Given the description of an element on the screen output the (x, y) to click on. 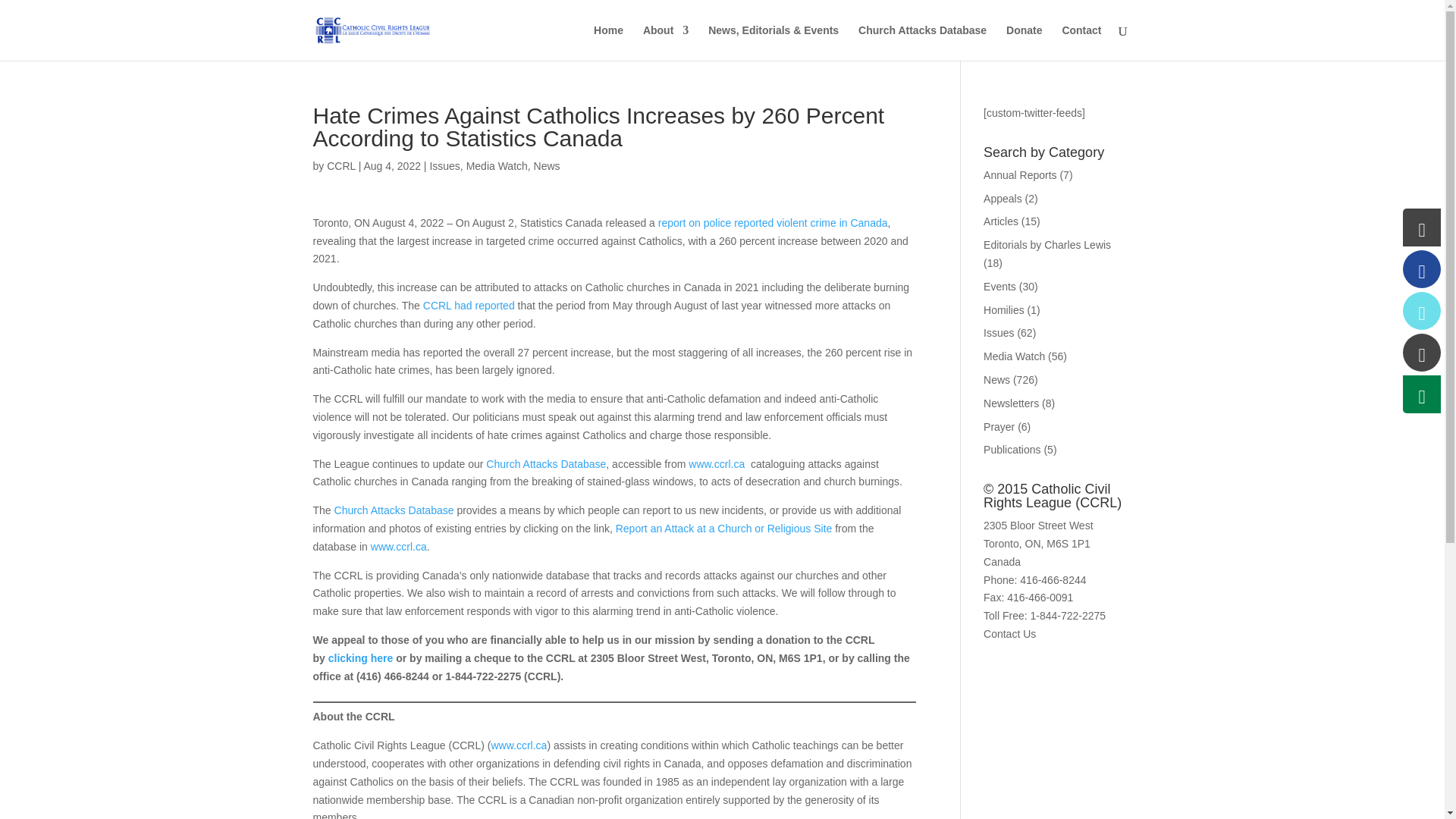
CCRL had reported (469, 305)
Contact Us (1009, 633)
Newsletters (1011, 403)
Church Attacks Database (923, 42)
Appeals (1003, 198)
Issues (998, 332)
Report an Attack at a Church or Religious Site (723, 528)
Publications (1012, 449)
clicking here (361, 657)
News (997, 379)
